Given the description of an element on the screen output the (x, y) to click on. 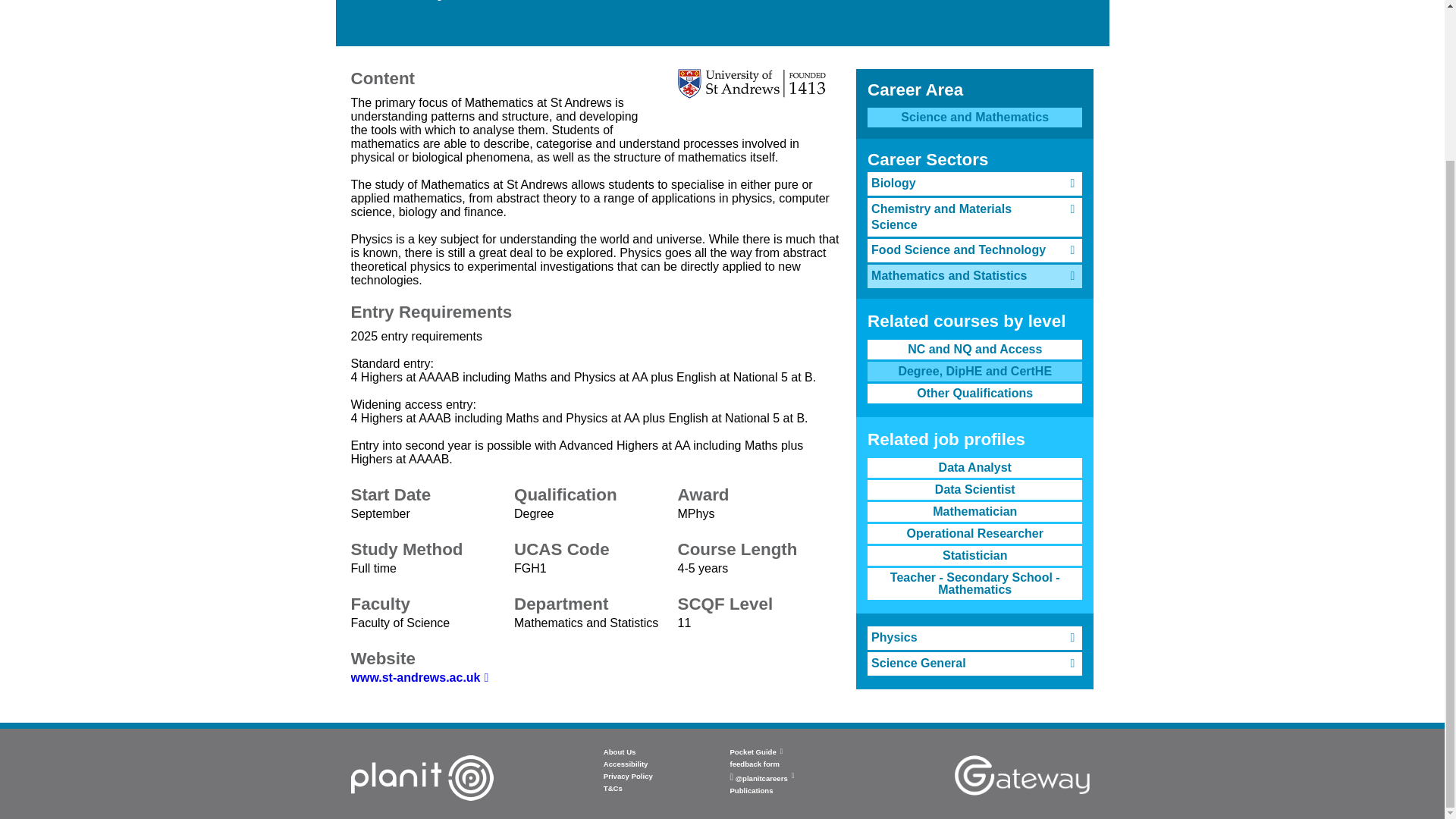
Science and Mathematics (974, 117)
www.st-andrews.ac.uk (418, 676)
